Given the description of an element on the screen output the (x, y) to click on. 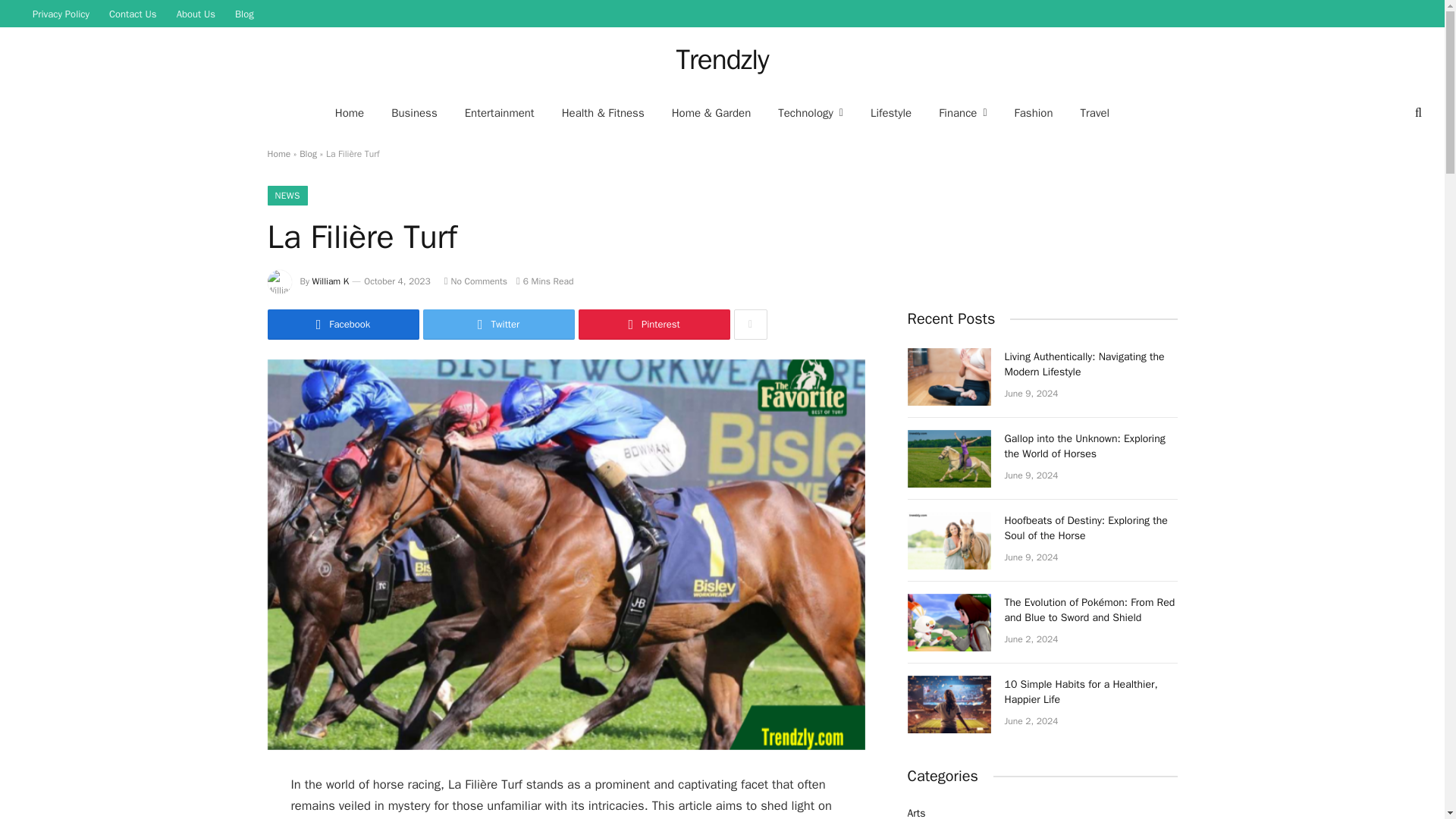
Contact Us (133, 13)
Travel (1095, 112)
Finance (962, 112)
Lifestyle (890, 112)
Home (277, 153)
Posts by William K (331, 281)
Trendzly (721, 59)
Business (414, 112)
Share on Facebook (342, 324)
Home (349, 112)
